Given the description of an element on the screen output the (x, y) to click on. 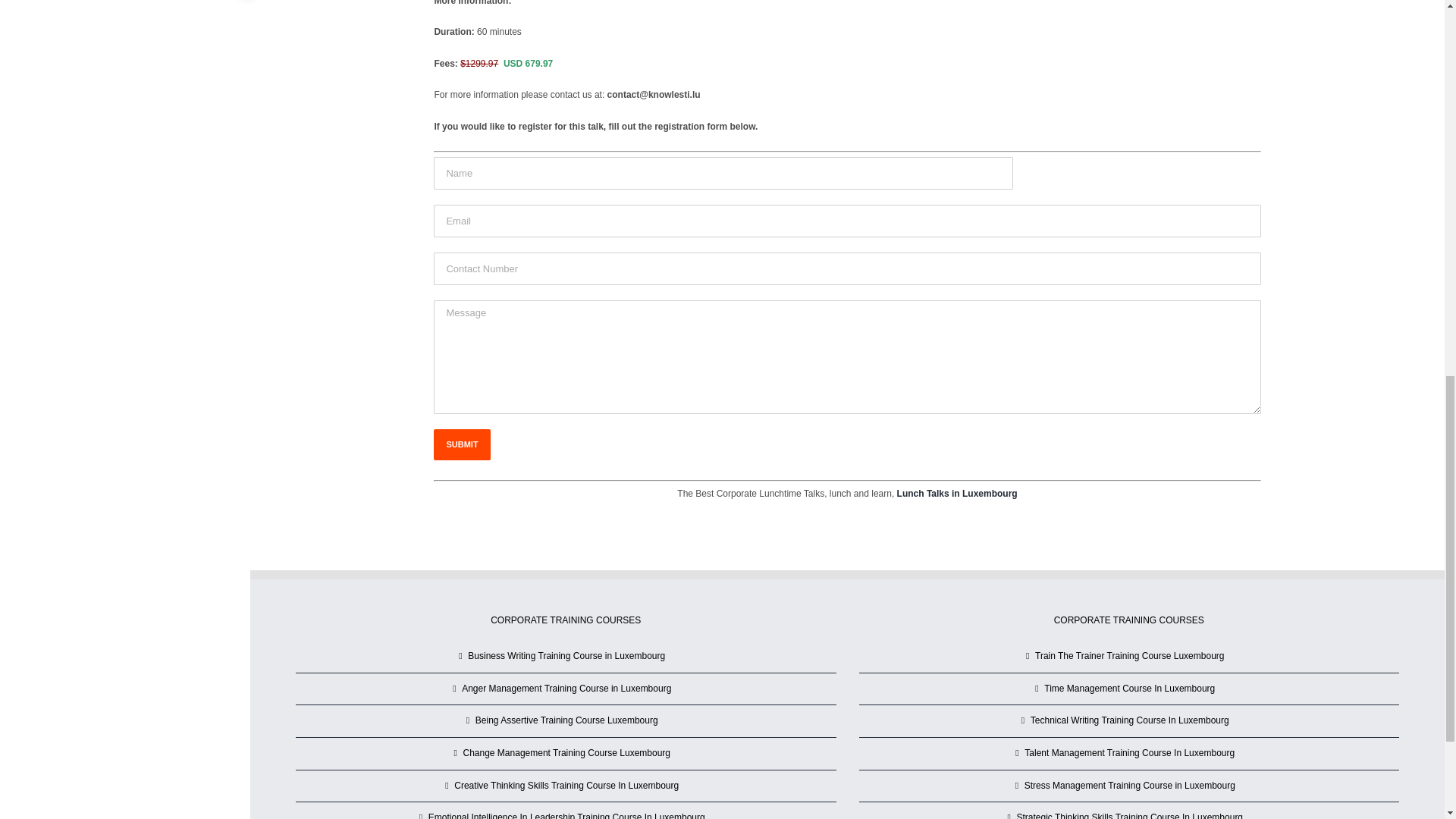
Being Assertive Training Course Luxembourg (566, 720)
Creative Thinking Skills Training Course In Luxembourg (566, 786)
Change Management Training Course Luxembourg (566, 753)
Anger Management Training Course in Luxembourg (566, 688)
submit (461, 444)
Train The Trainer Training Course Luxembourg (1129, 656)
Business Writing Training Course in Luxembourg (566, 656)
Talent Management Training Course In Luxembourg (1129, 753)
submit (461, 444)
